Given the description of an element on the screen output the (x, y) to click on. 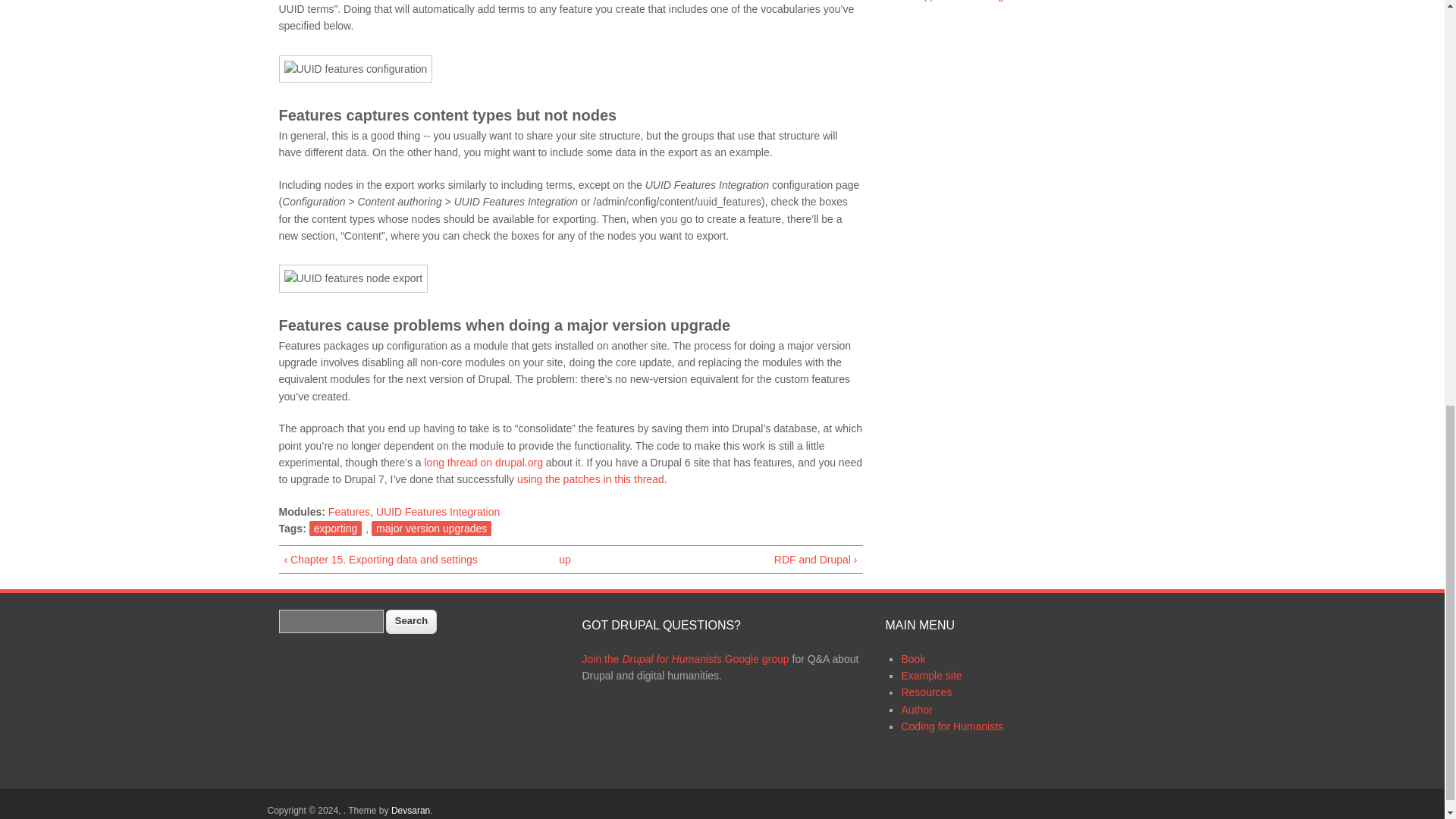
Enter the terms you wish to search for. (331, 621)
Go to parent page (564, 559)
Features (349, 511)
major version upgrades (431, 528)
up (564, 559)
UUID Features Integration (437, 511)
exporting (335, 528)
long thread on drupal.org (482, 462)
Go to next page (736, 559)
Search (410, 621)
